Given the description of an element on the screen output the (x, y) to click on. 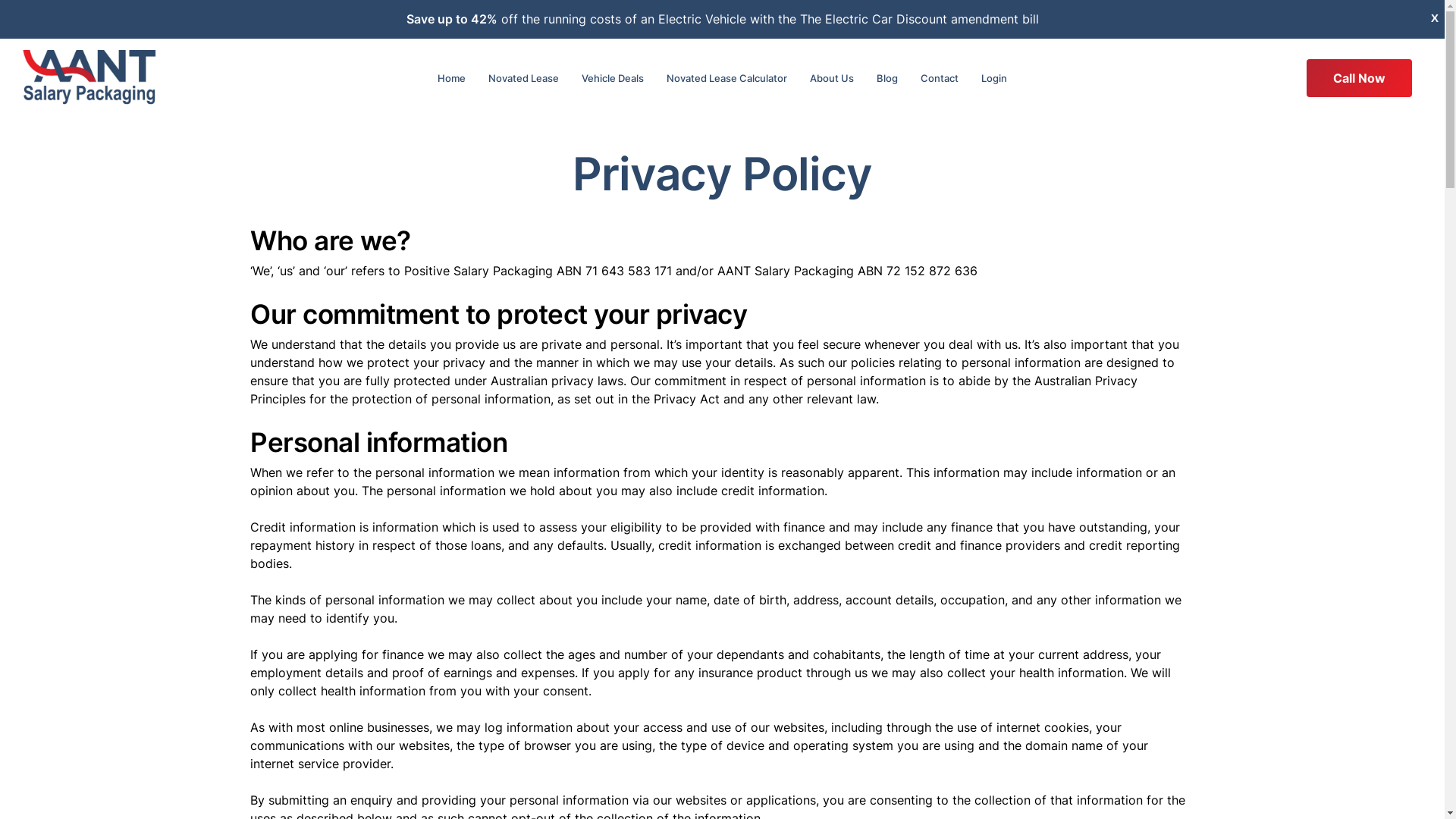
Login Element type: text (993, 77)
Novated Lease Element type: text (523, 77)
About Us Element type: text (831, 77)
Novated Lease Calculator Element type: text (726, 77)
Vehicle Deals Element type: text (612, 77)
Blog Element type: text (887, 77)
Home Element type: text (451, 77)
Call Now Element type: text (1359, 77)
Contact Element type: text (939, 77)
